Given the description of an element on the screen output the (x, y) to click on. 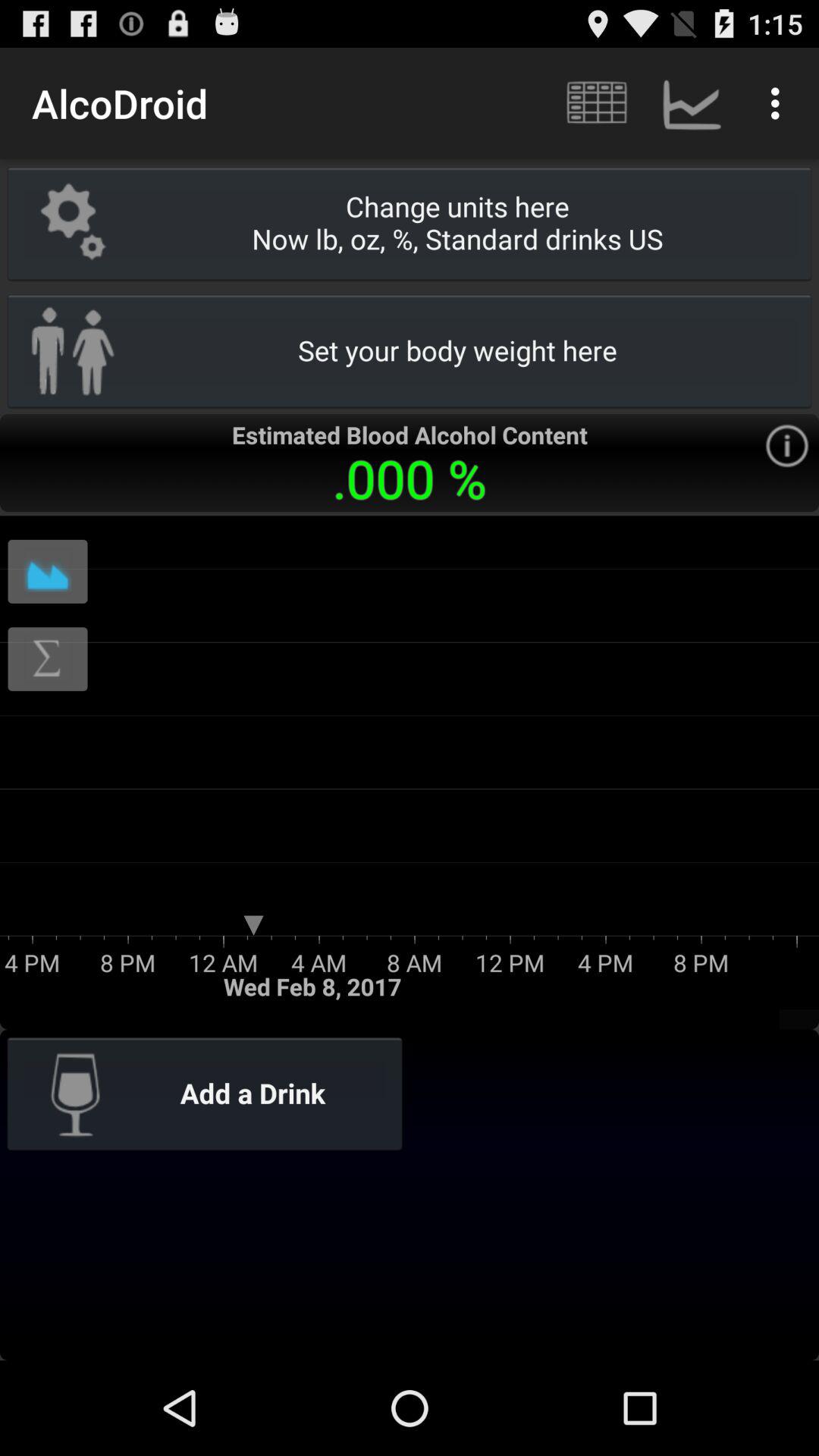
equalizer button (47, 571)
